Given the description of an element on the screen output the (x, y) to click on. 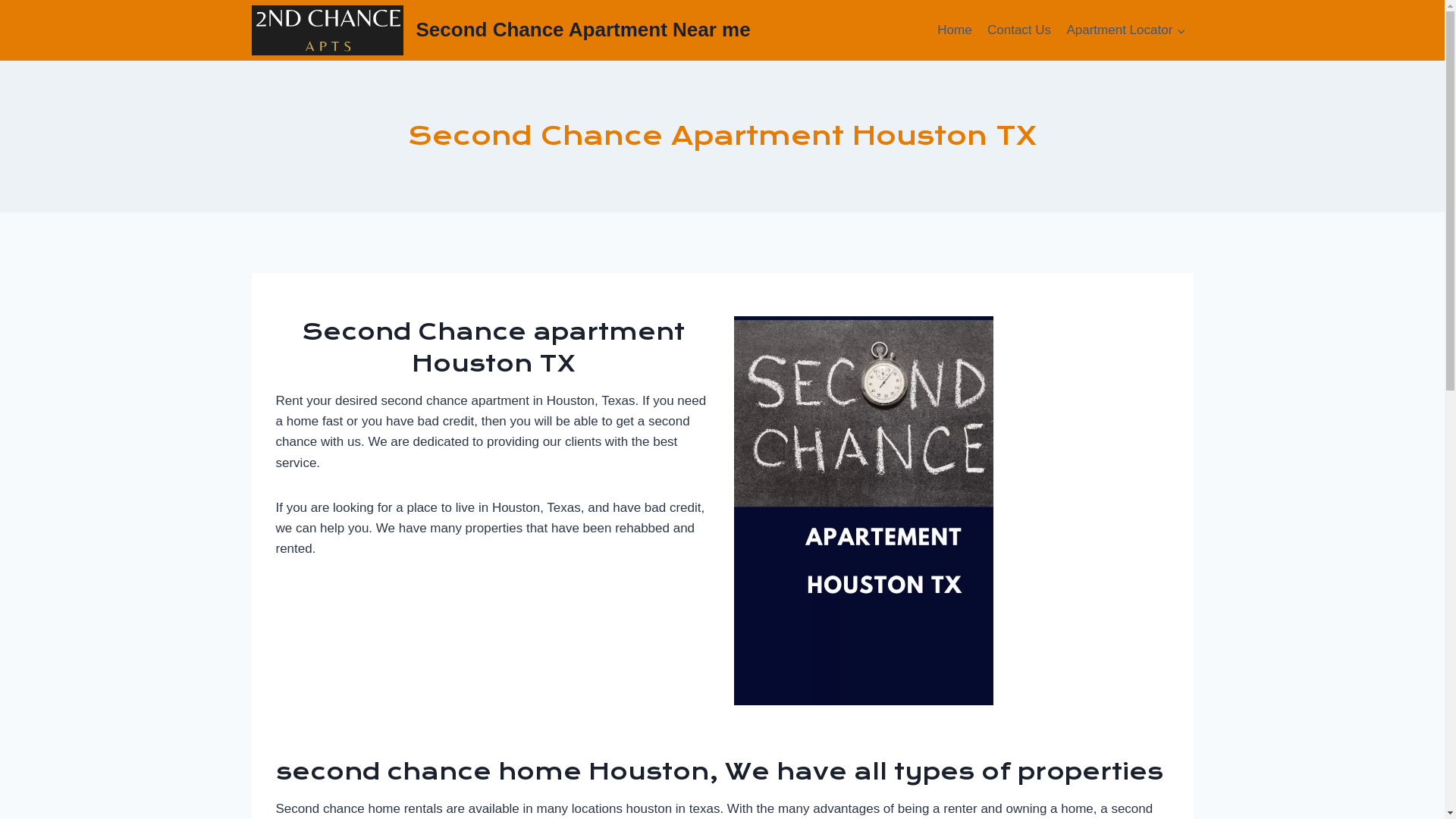
Home Element type: text (954, 30)
Apartment Locator Element type: text (1125, 30)
Second Chance Apartment Near me Element type: text (500, 30)
Contact Us Element type: text (1018, 30)
